Given the description of an element on the screen output the (x, y) to click on. 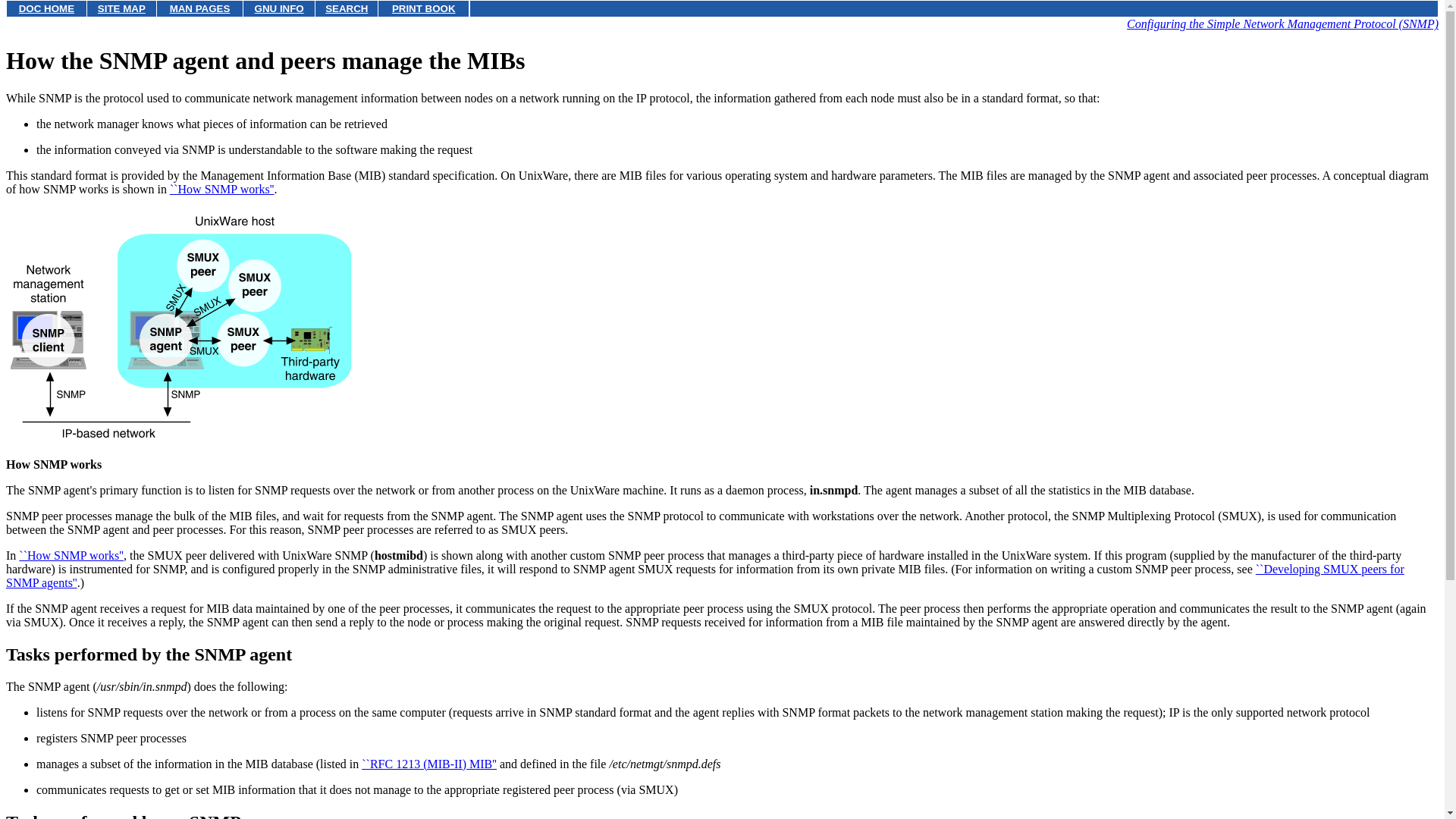
MAN PAGES (200, 8)
PRINT BOOK (423, 8)
DOC HOME (46, 8)
SEARCH (346, 8)
GNU INFO (279, 8)
SITE MAP (121, 8)
